Given the description of an element on the screen output the (x, y) to click on. 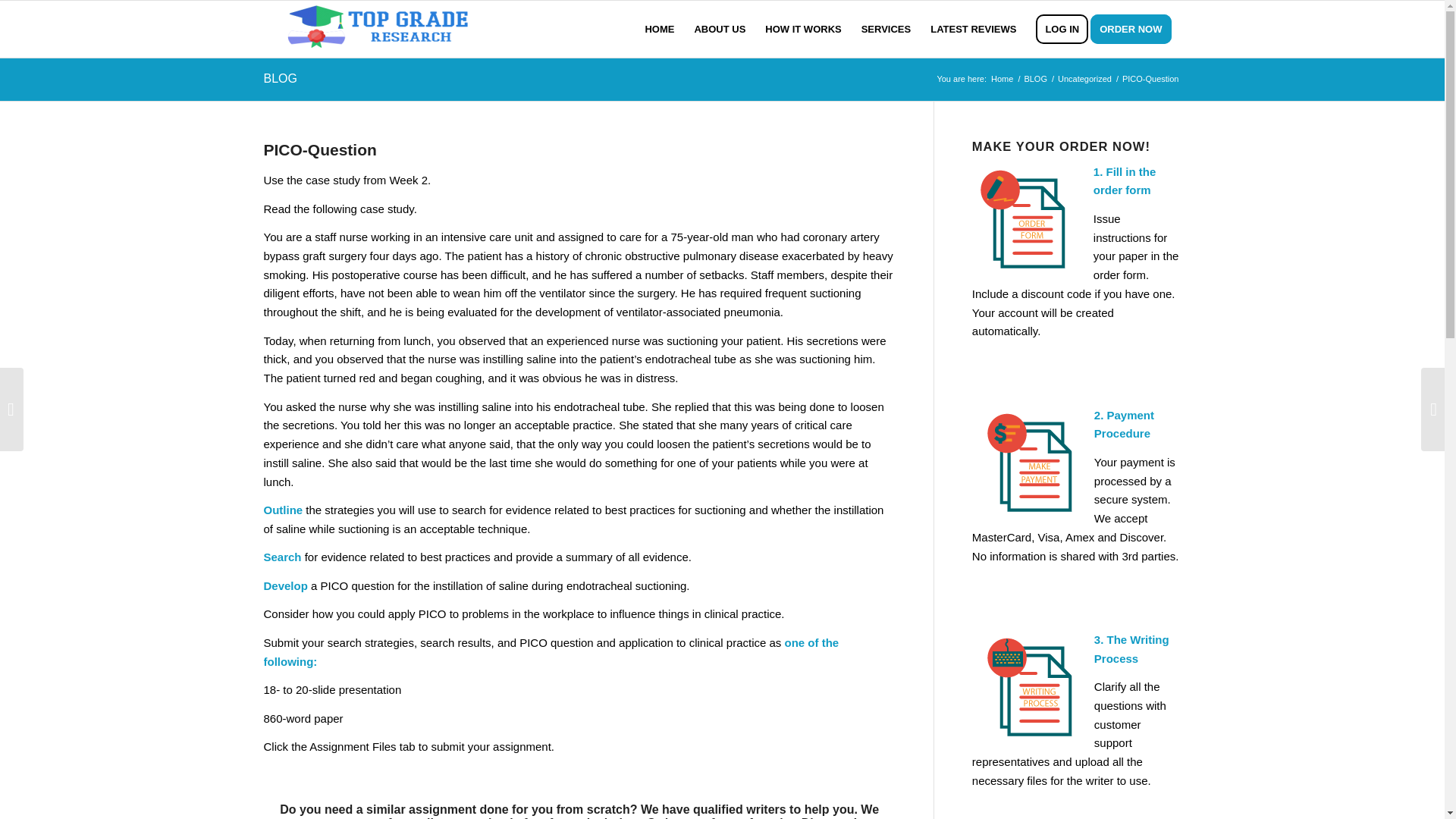
LATEST REVIEWS (973, 28)
PICO-Question (320, 149)
topgraderesearch (1001, 79)
Permanent Link: PICO-Question (320, 149)
BLOG (1035, 79)
ORDER NOW (1135, 28)
SERVICES (886, 28)
Permanent Link: BLOG (280, 78)
BLOG (280, 78)
ABOUT US (719, 28)
LOG IN (1061, 28)
BLOG (1035, 79)
Uncategorized (1084, 79)
Home (1001, 79)
HOME (659, 28)
